Given the description of an element on the screen output the (x, y) to click on. 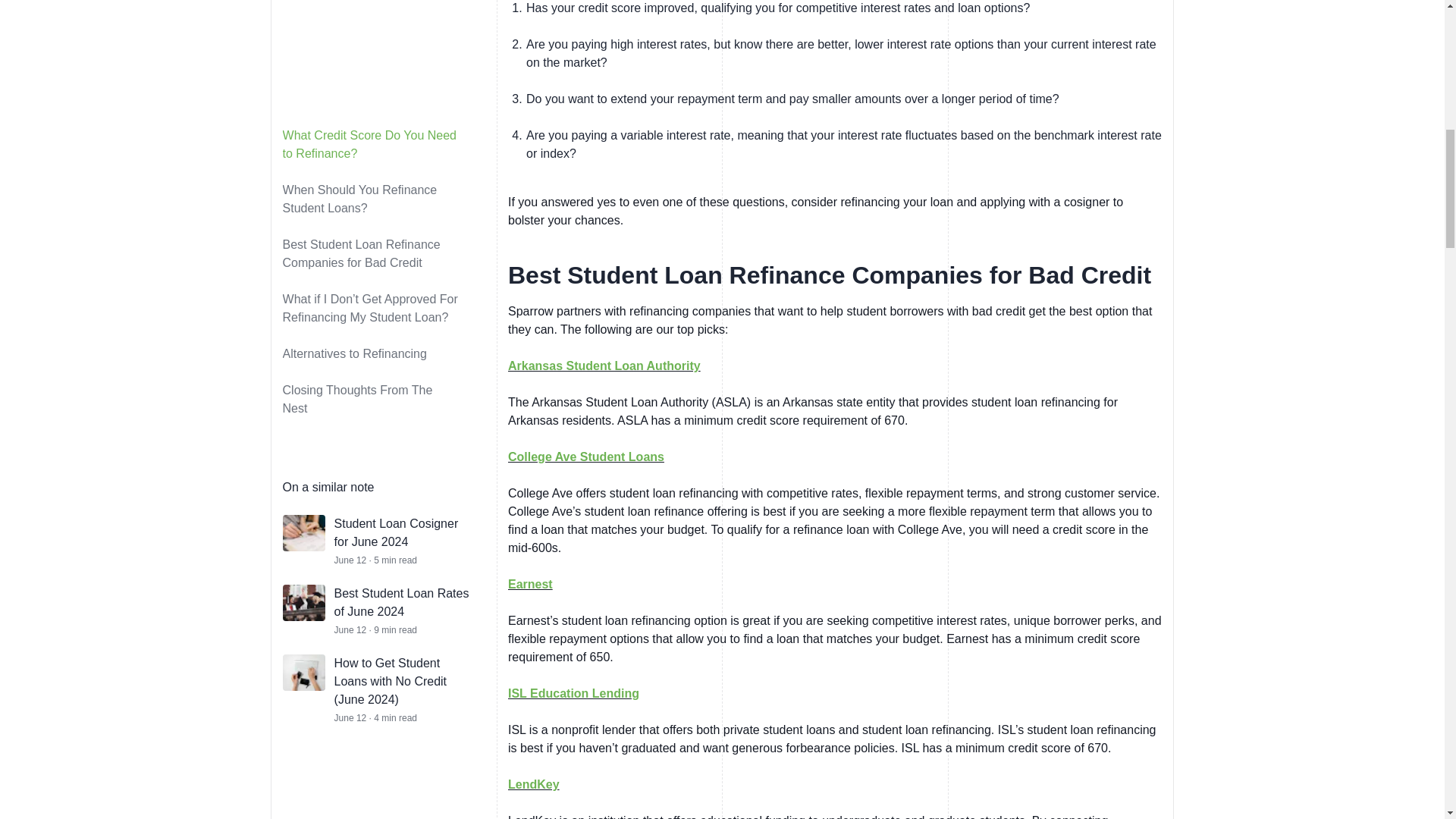
Earnest (530, 584)
Student Loan Cosigner for June 2024 (396, 6)
Arkansas Student Loan Authority (604, 365)
Best Student Loan Rates of June 2024 (401, 66)
ISL Education Lending (573, 693)
College Ave Student Loans (585, 456)
